Given the description of an element on the screen output the (x, y) to click on. 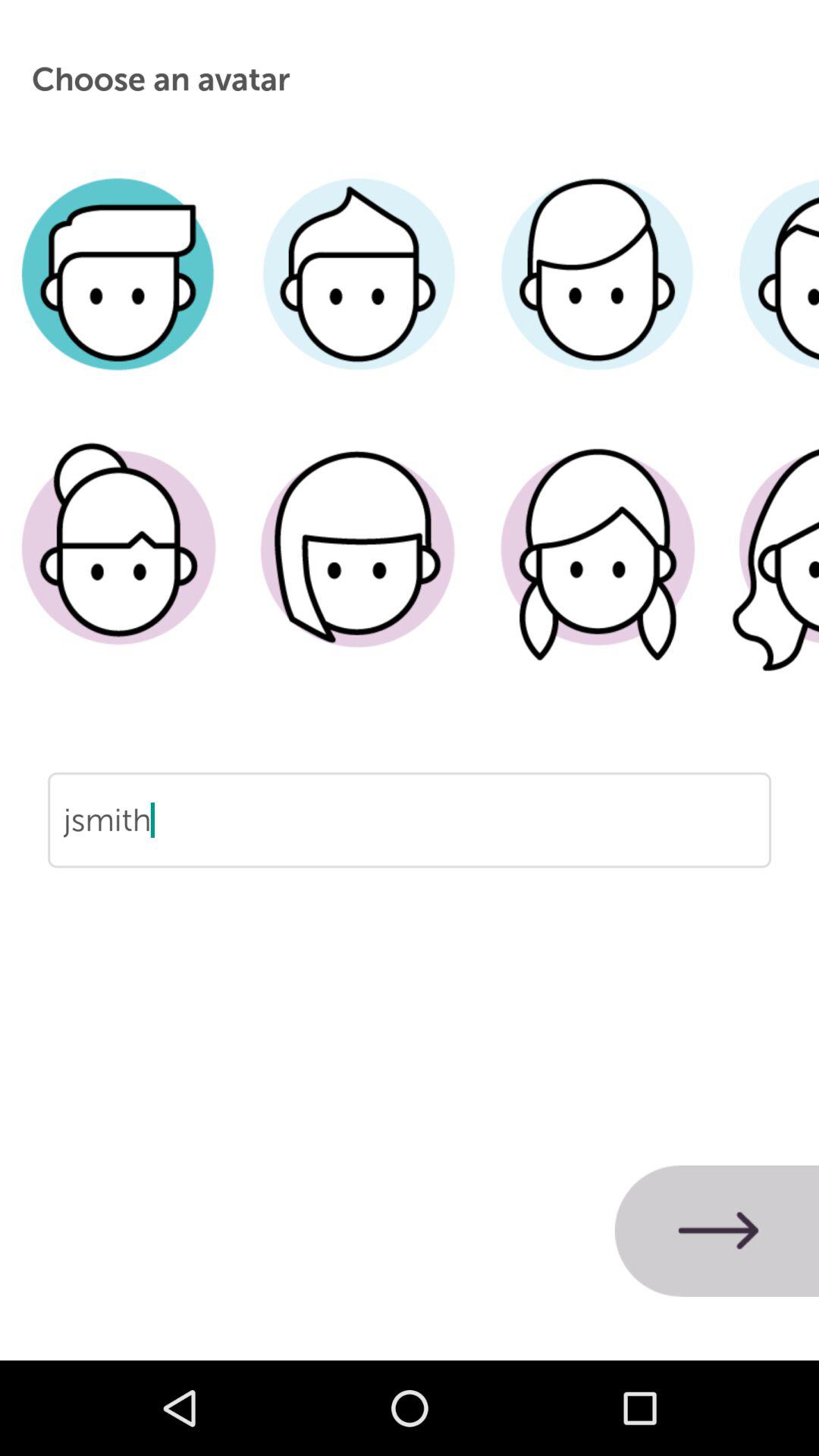
male image (357, 296)
